Given the description of an element on the screen output the (x, y) to click on. 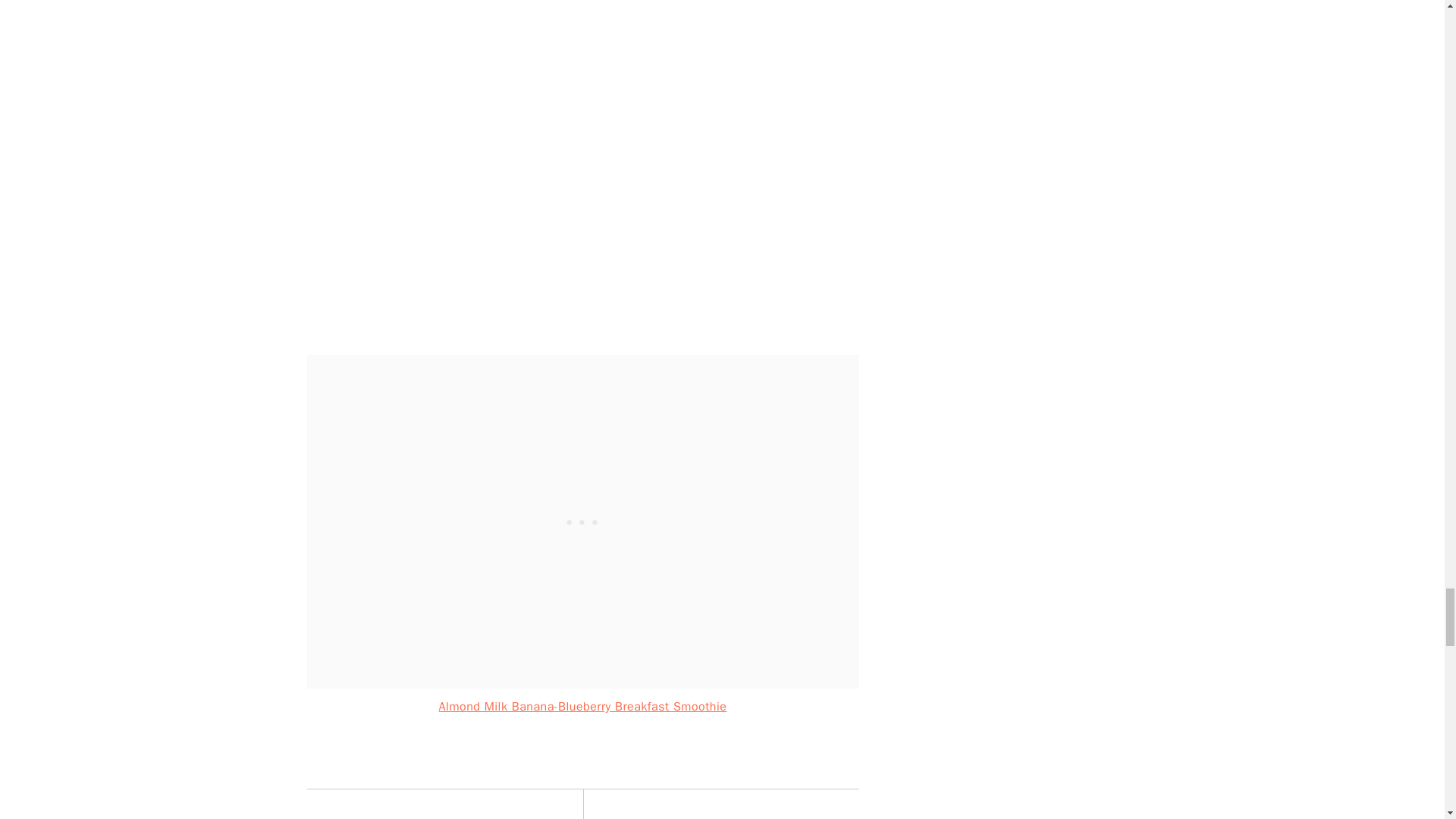
Almond Milk Banana-Blueberry Breakfast Smoothie (582, 706)
